Given the description of an element on the screen output the (x, y) to click on. 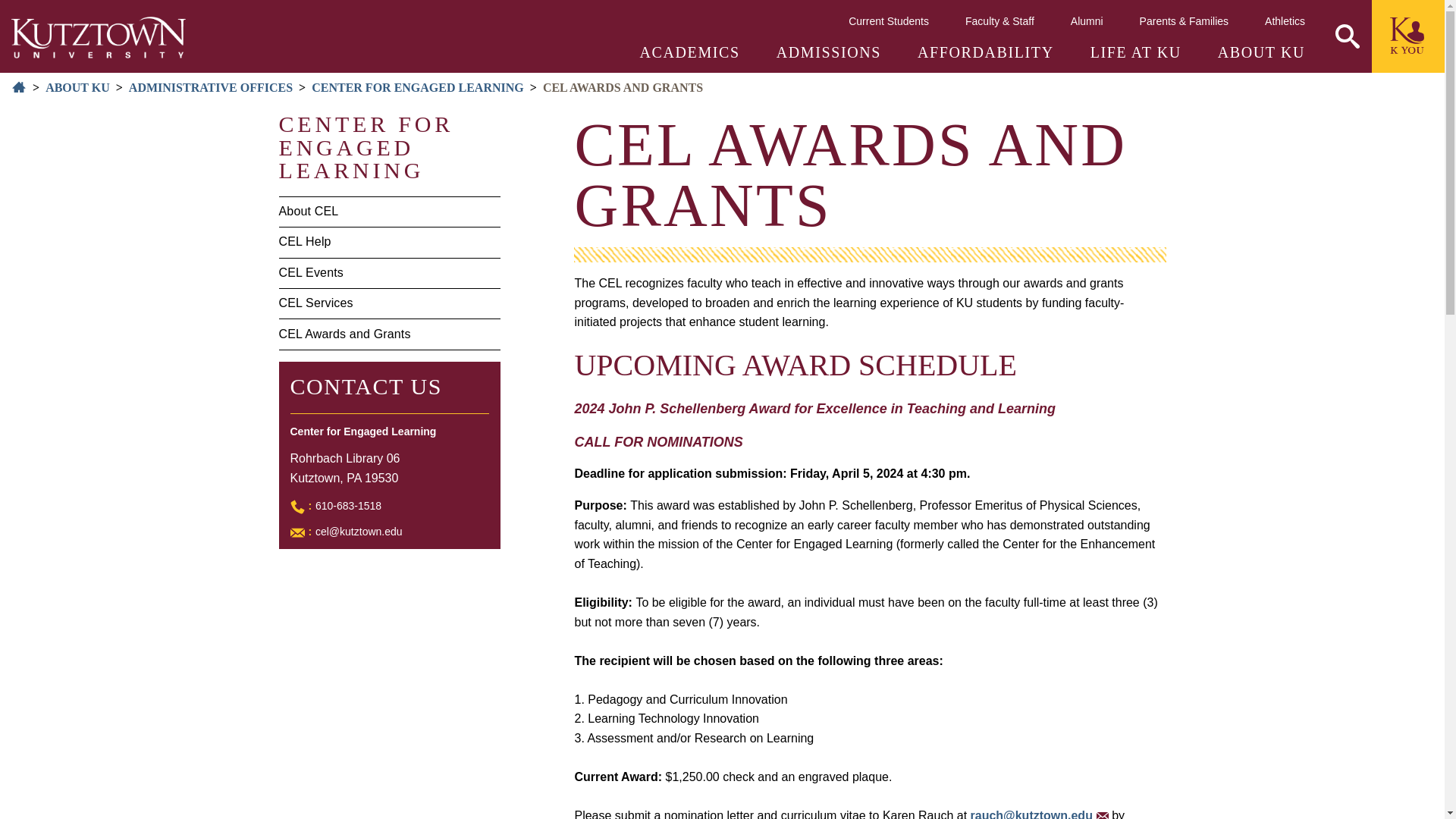
Athletics (1284, 20)
ABOUT KU (1260, 51)
Home (98, 37)
LIFE AT KU (1135, 51)
ADMISSIONS (828, 51)
Alumni (1086, 20)
Alumni (1086, 20)
Athletics (1284, 20)
AFFORDABILITY (985, 51)
ACADEMICS (689, 51)
